Given the description of an element on the screen output the (x, y) to click on. 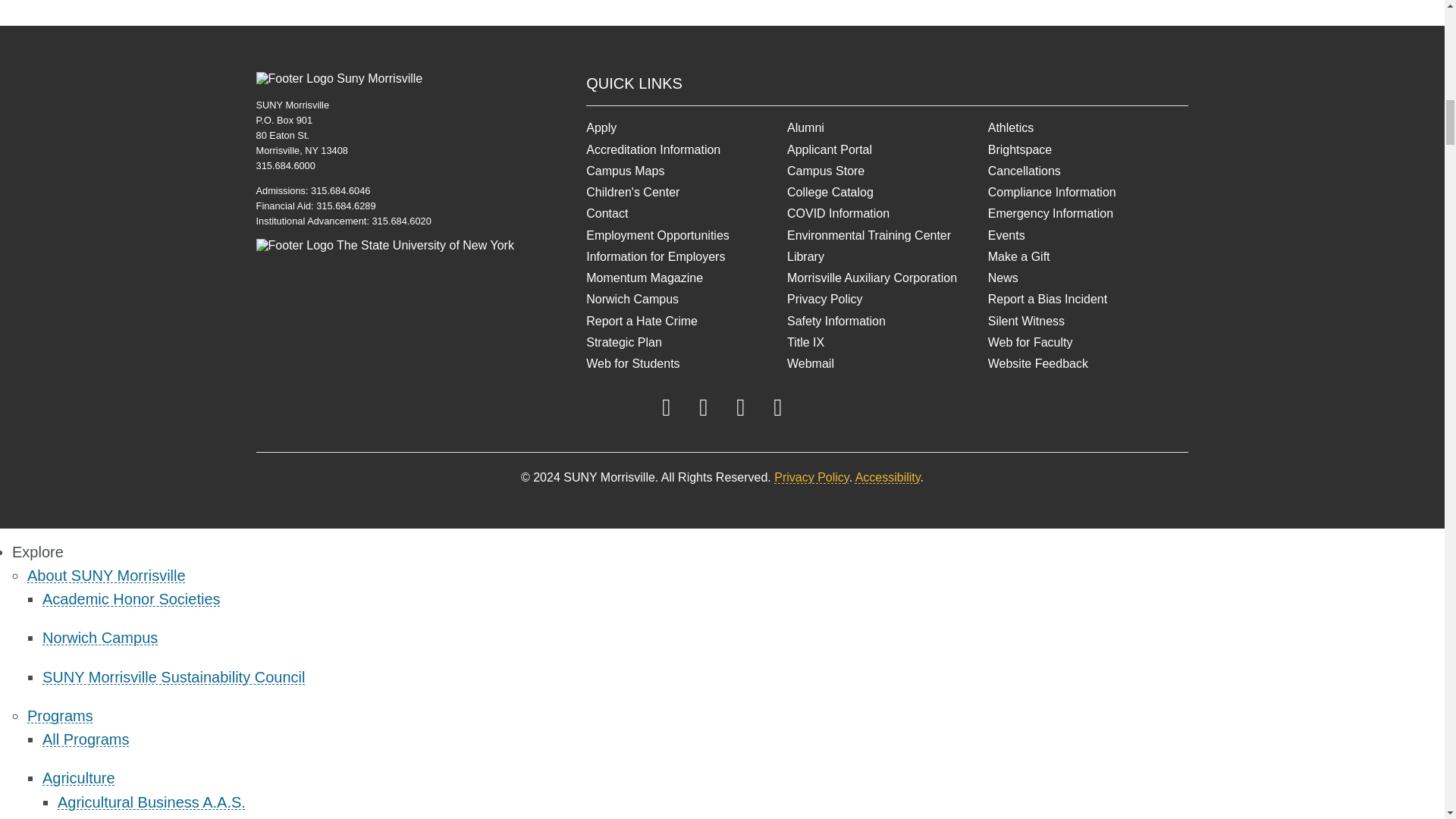
Athletics (1088, 128)
Title IX (887, 342)
Alumni (887, 128)
Footer Logo Suny Morrisville (339, 78)
Footer Logo The State University of New York (384, 245)
Apply (686, 128)
